Given the description of an element on the screen output the (x, y) to click on. 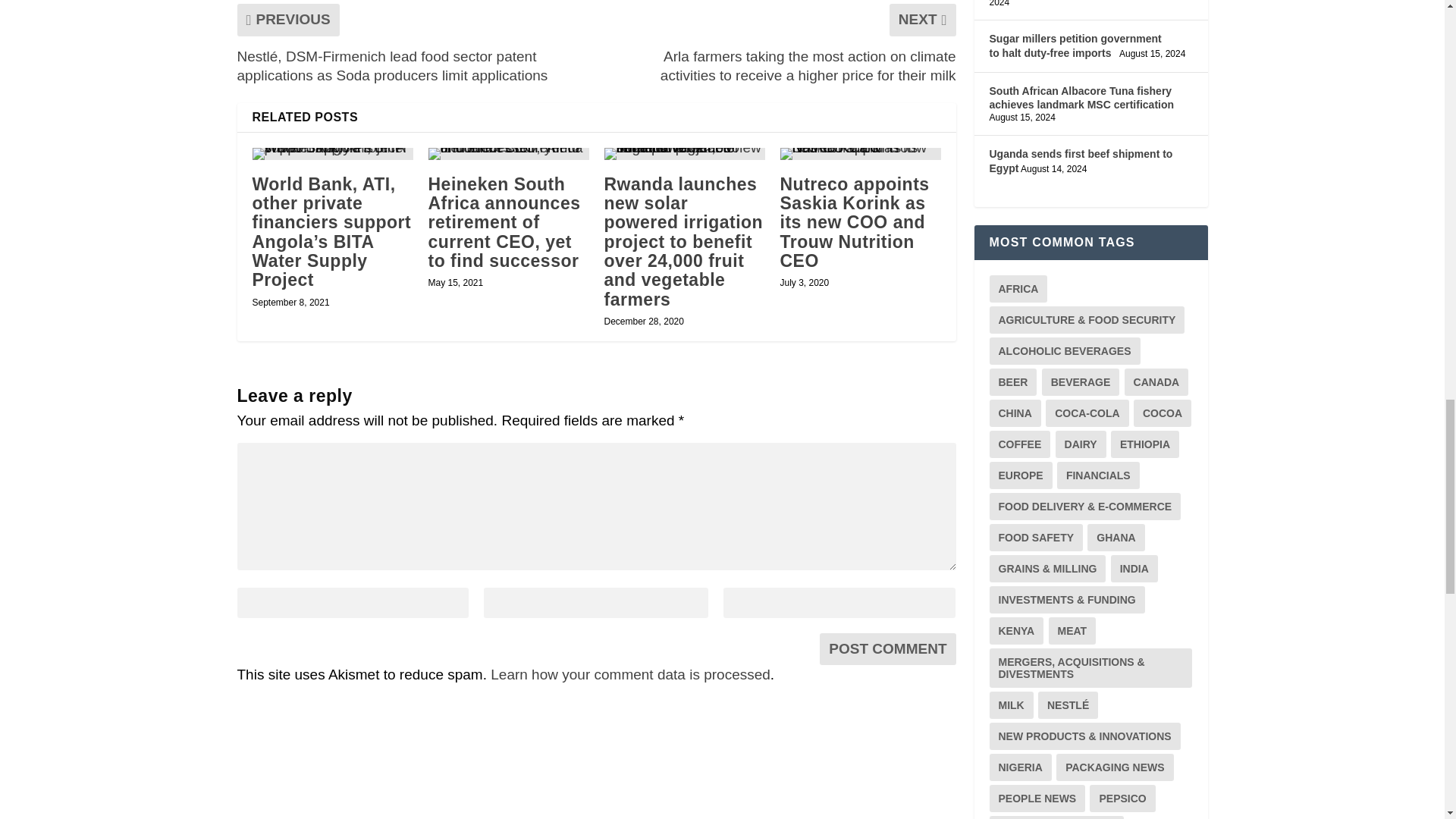
Post Comment (887, 649)
